Given the description of an element on the screen output the (x, y) to click on. 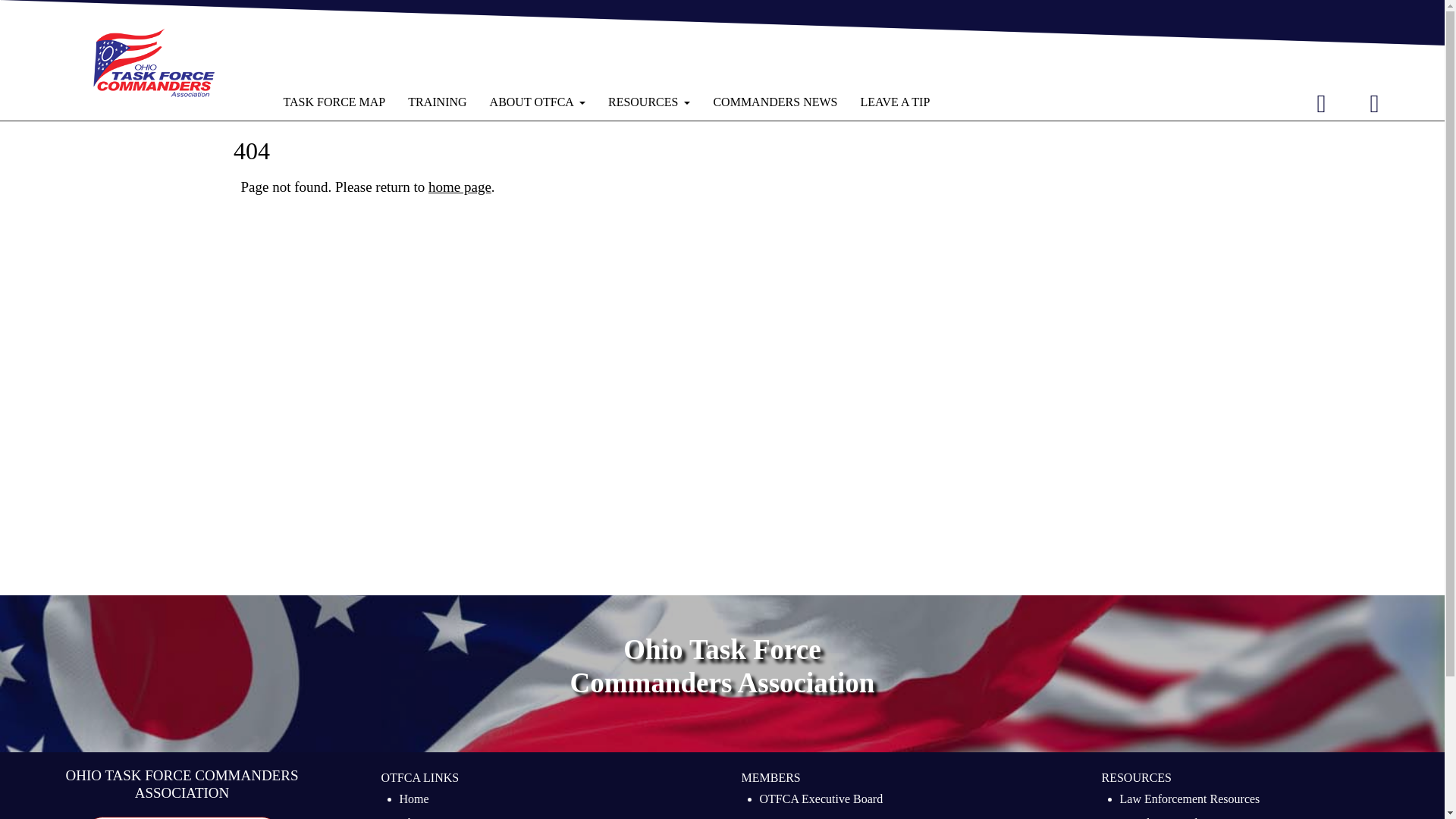
Legislative Updates (1167, 816)
Law Enforcement Resources (1189, 800)
COMMANDERS NEWS (774, 101)
OTFCA Executive Board (821, 800)
facebook icon (1320, 103)
RESOURCES (648, 101)
LEAVE A TIP (181, 817)
instgram icon (1374, 103)
OTFCA District Directors (823, 816)
TRAINING (436, 101)
